Given the description of an element on the screen output the (x, y) to click on. 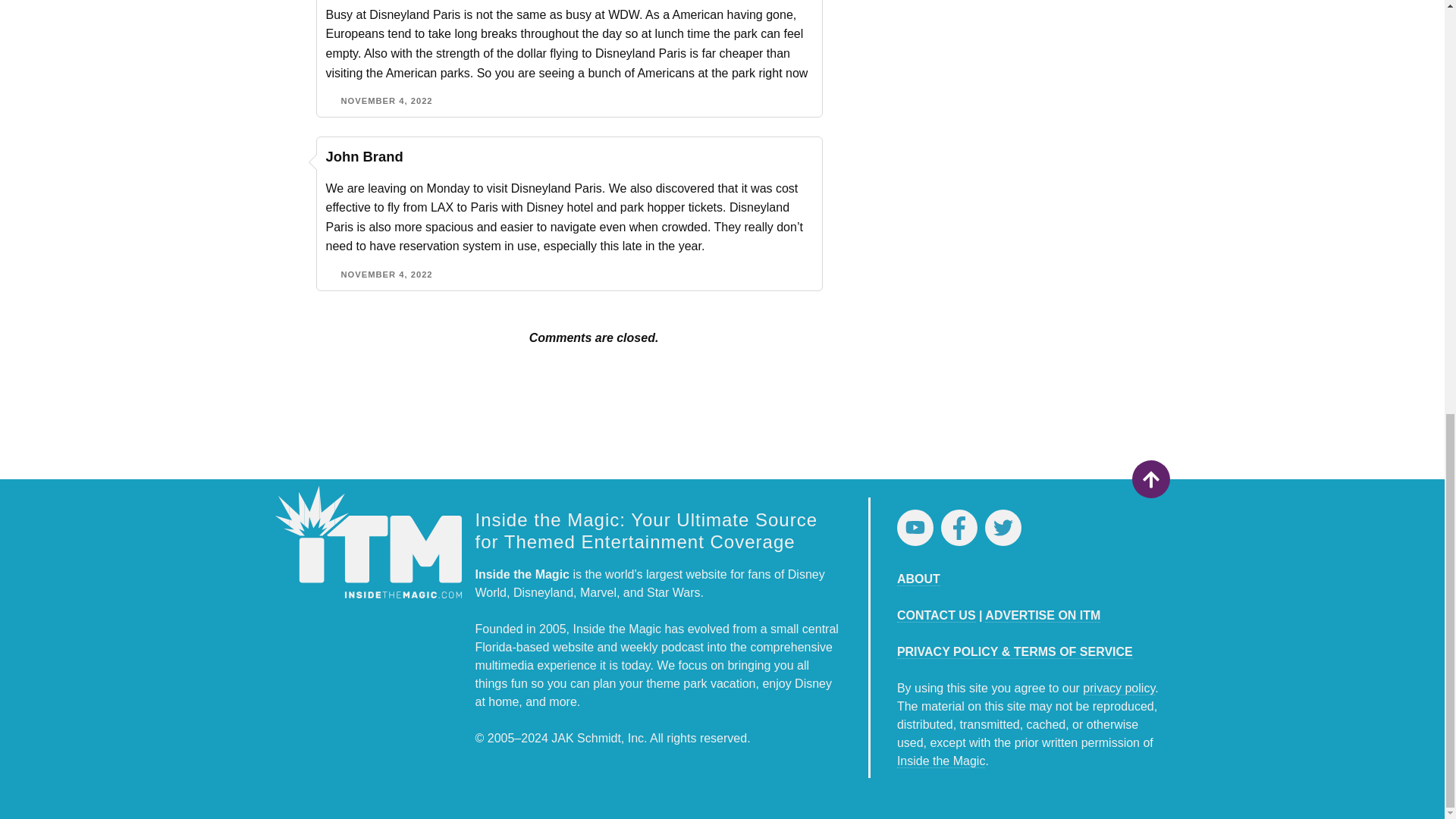
November 4, 2022 at 1:18 pm (386, 100)
November 4, 2022 at 5:36 pm (386, 274)
Return to Top (1150, 478)
